Given the description of an element on the screen output the (x, y) to click on. 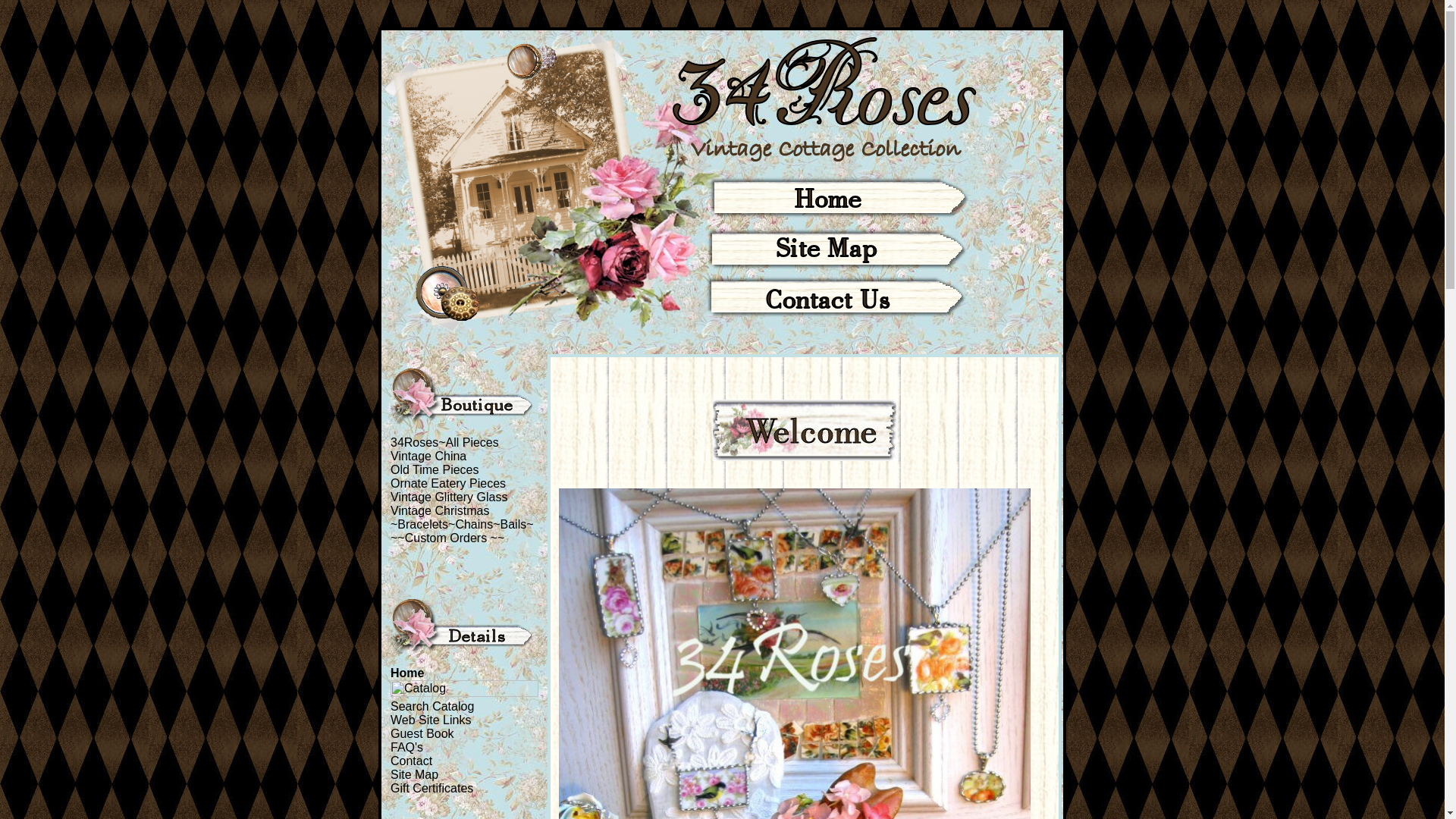
Contact Element type: text (411, 760)
Search Catalog Element type: text (431, 705)
~~Custom Orders ~~ Element type: text (447, 537)
Vintage Glittery Glass Element type: text (448, 496)
Site Map Element type: text (414, 774)
Guest Book Element type: text (422, 733)
Gift Certificates Element type: text (431, 787)
Catalog Element type: hover (464, 688)
Ornate Eatery Pieces Element type: text (447, 482)
Home Element type: text (406, 672)
Old Time Pieces Element type: text (434, 469)
Vintage Christmas Element type: text (439, 510)
~Bracelets~Chains~Bails~ Element type: text (461, 523)
Web Site Links Element type: text (430, 719)
34Roses~All Pieces Vintage China Element type: text (444, 449)
FAQ's Element type: text (406, 746)
